Given the description of an element on the screen output the (x, y) to click on. 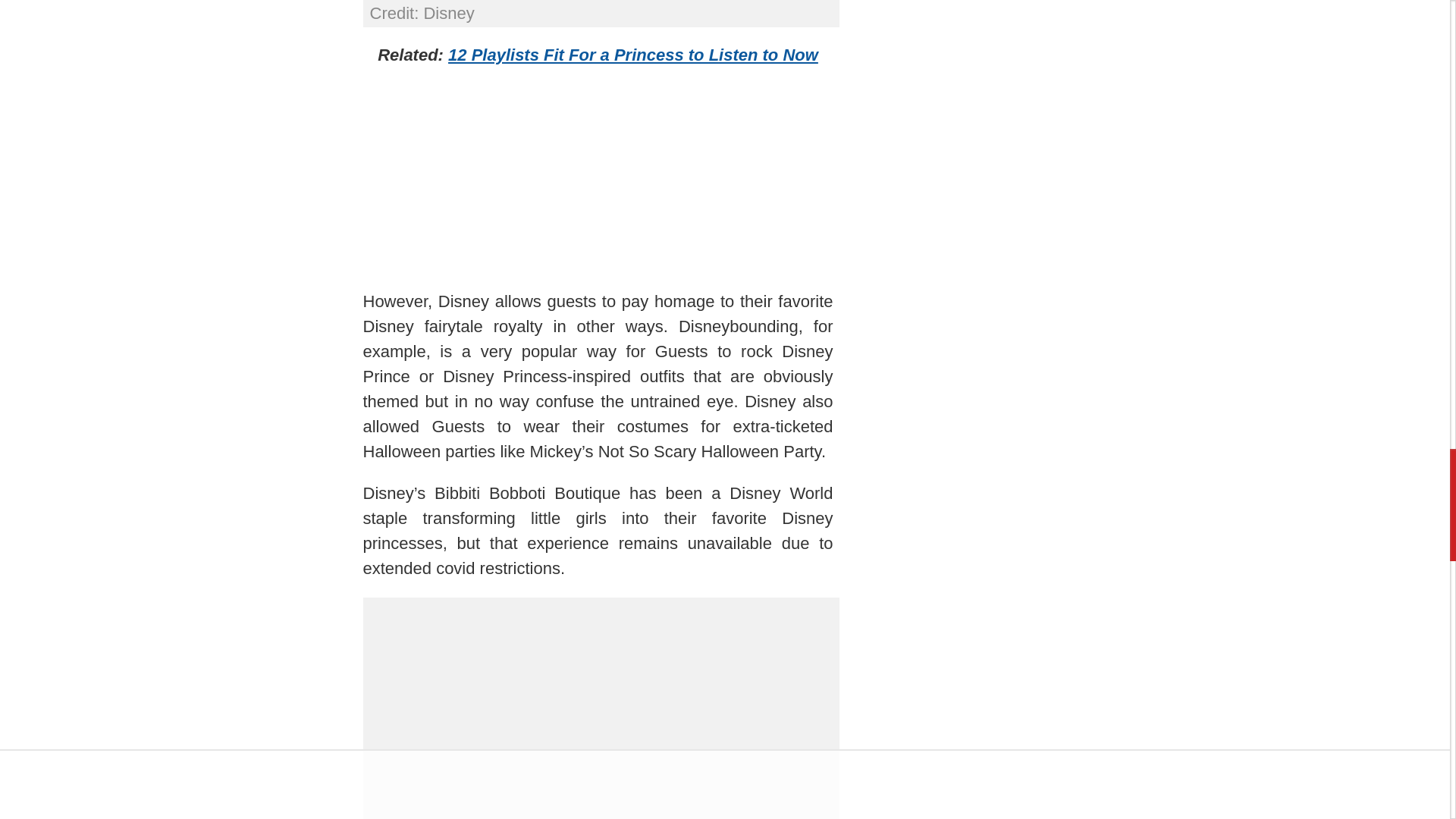
12 Playlists Fit For a Princess to Listen to Now (633, 54)
